Given the description of an element on the screen output the (x, y) to click on. 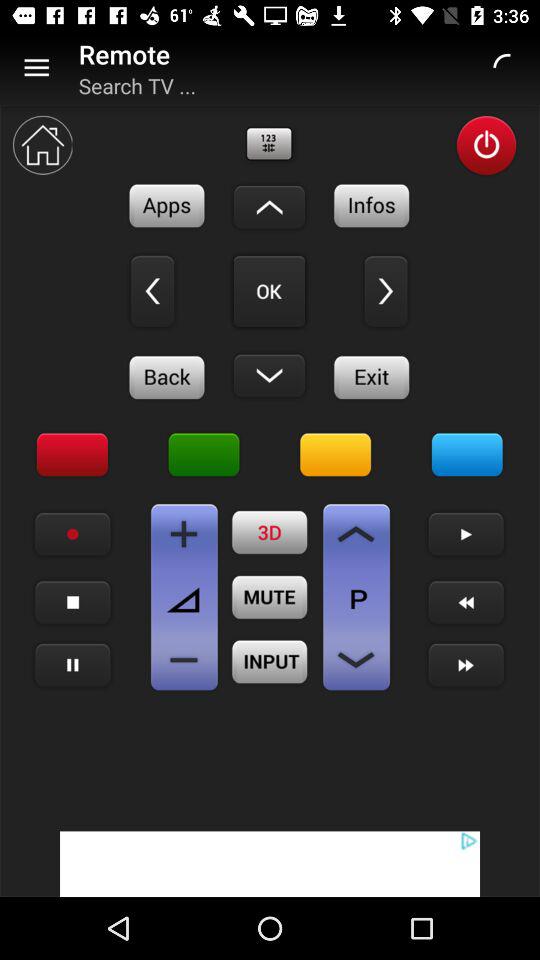
go back button (152, 291)
